Given the description of an element on the screen output the (x, y) to click on. 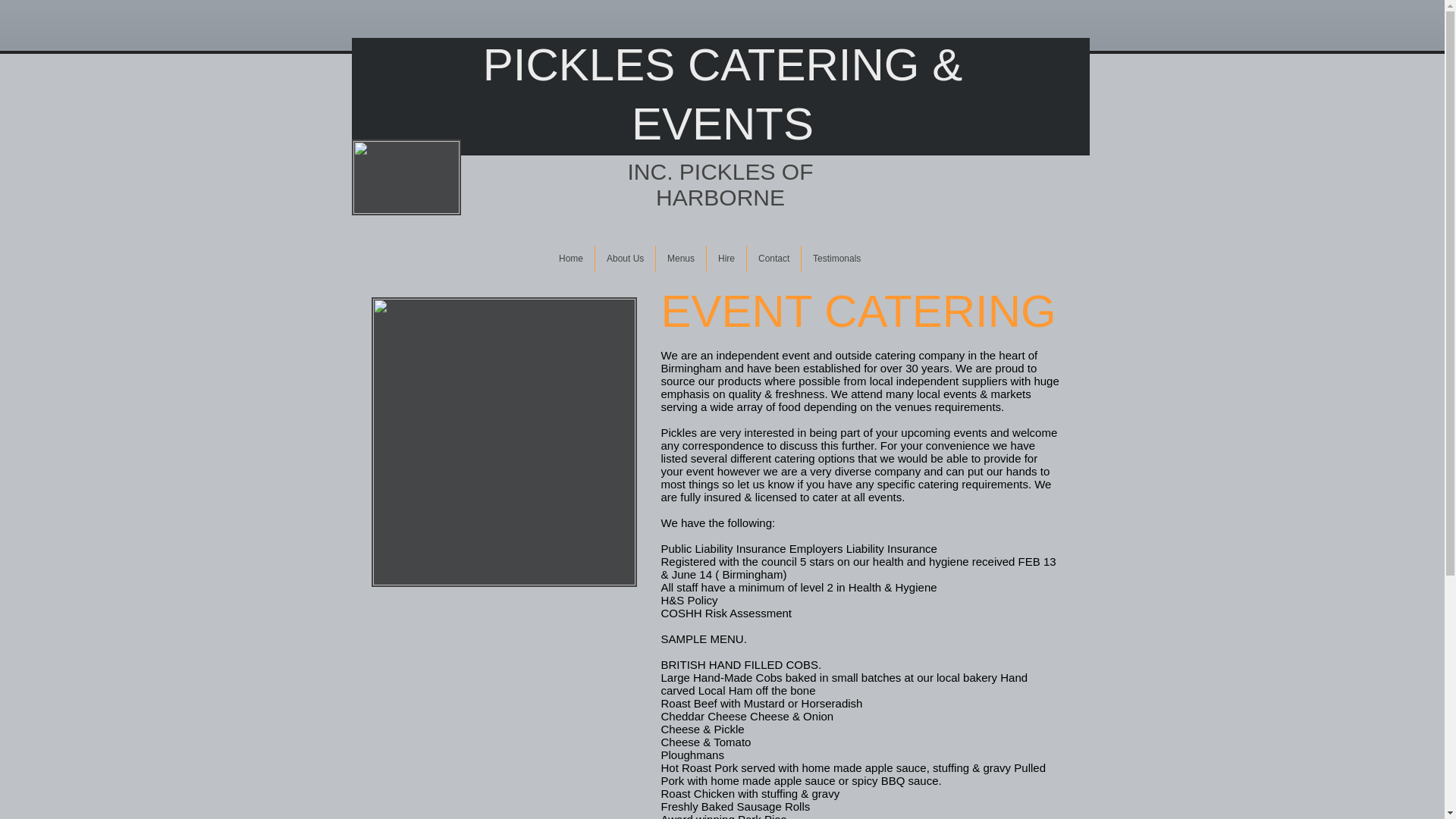
Contact (773, 258)
Menus (681, 258)
About Us (625, 258)
Hire (725, 258)
Home (570, 258)
photo.PNG (504, 442)
Testimonals (837, 258)
